Given the description of an element on the screen output the (x, y) to click on. 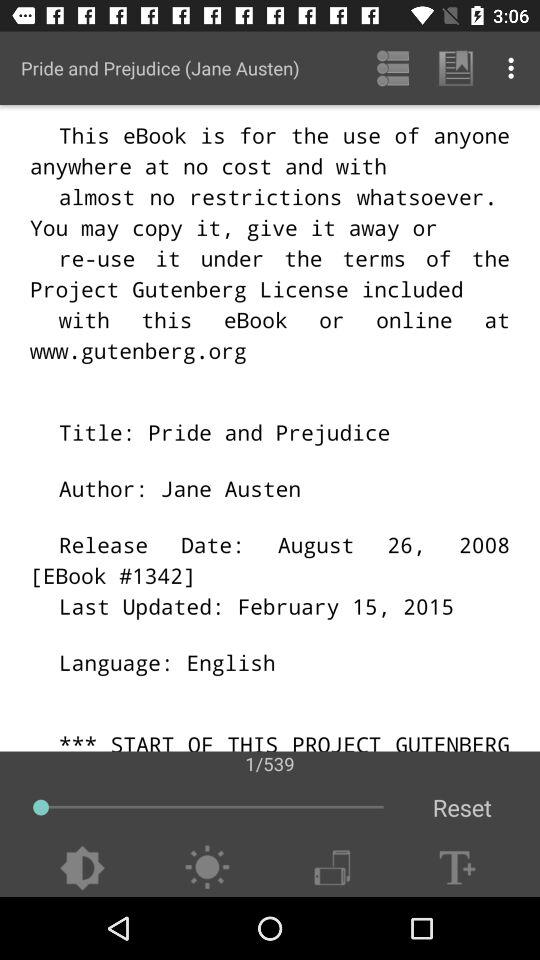
change brightness (81, 867)
